Given the description of an element on the screen output the (x, y) to click on. 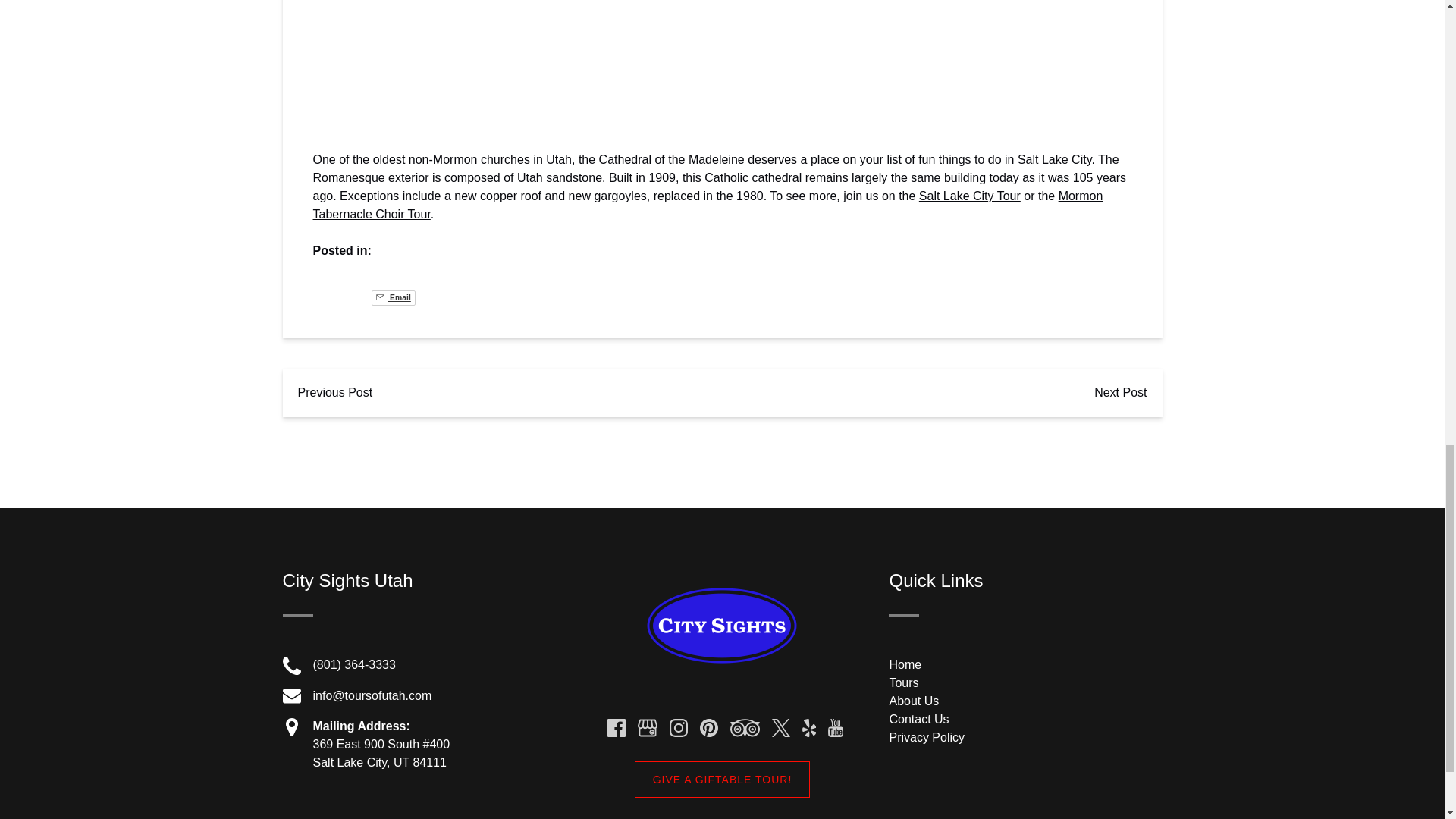
Email (392, 296)
visit previous post (334, 392)
Envelope (290, 696)
Map Marker (290, 727)
Salt Lake City Tour (969, 195)
Mormon Tabernacle Choir Tour (707, 204)
Previous Post (334, 392)
Email this page to a friend. (392, 296)
Phone (290, 665)
Next Post (1119, 392)
